Given the description of an element on the screen output the (x, y) to click on. 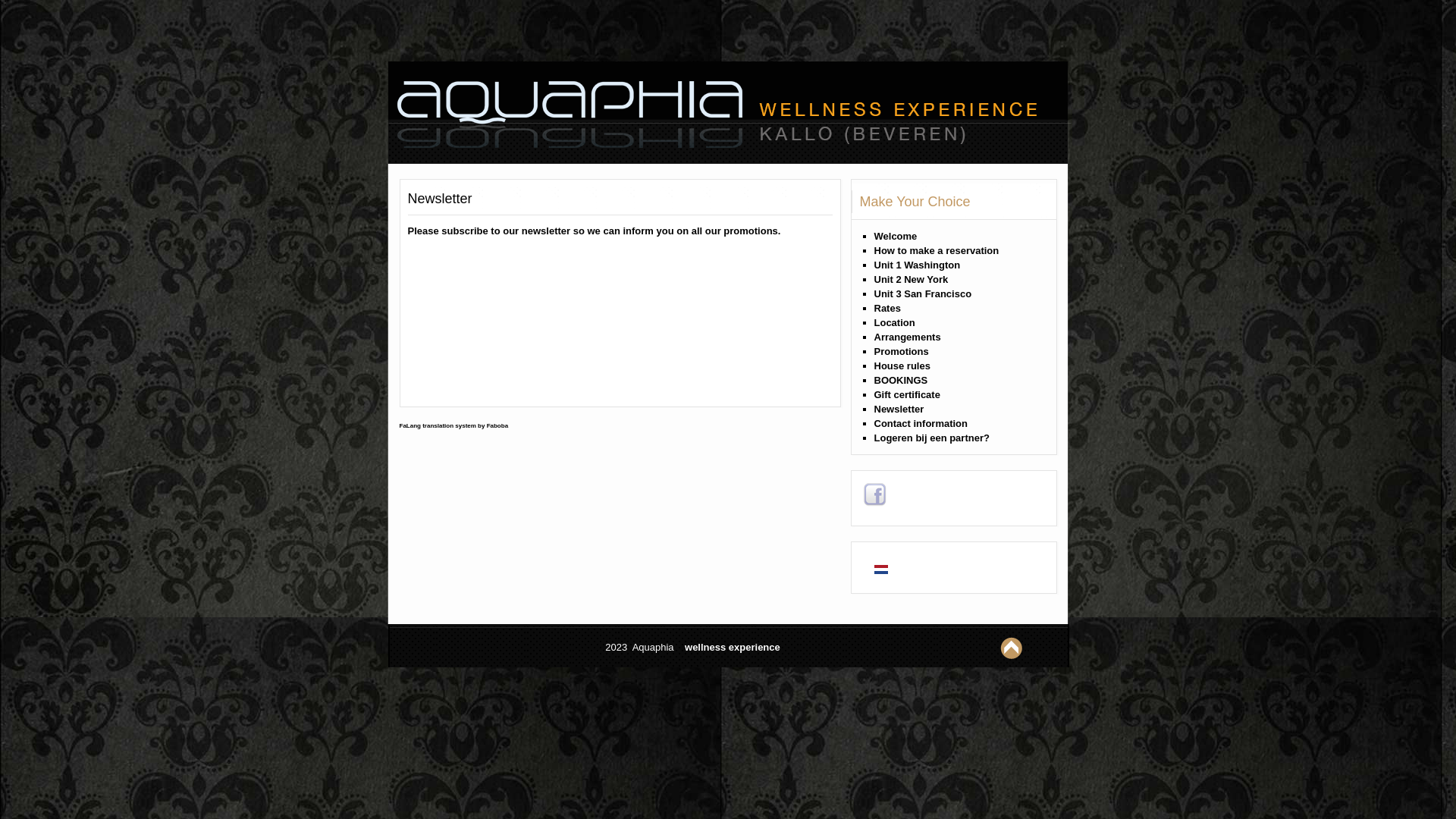
BOOKINGS Element type: text (900, 379)
Unit 1 Washington Element type: text (916, 264)
House rules Element type: text (901, 365)
Newsletter Element type: text (439, 200)
Welcome Element type: text (894, 235)
Facebook Element type: hover (874, 494)
Promotions Element type: text (900, 351)
Unit 2 New York Element type: text (910, 279)
Contact information Element type: text (920, 423)
Dutch Element type: hover (880, 569)
Gift certificate Element type: text (906, 394)
How to make a reservation Element type: text (935, 250)
Newsletter Element type: text (898, 408)
wellness experience Element type: text (732, 646)
Unit 3 San Francisco Element type: text (922, 293)
Rates Element type: text (886, 307)
FaLang translation system by Faboba Element type: text (453, 425)
Make Your Choice Element type: text (913, 201)
Logeren bij een partner? Element type: text (930, 437)
Arrangements Element type: text (906, 336)
Location Element type: text (893, 322)
